Given the description of an element on the screen output the (x, y) to click on. 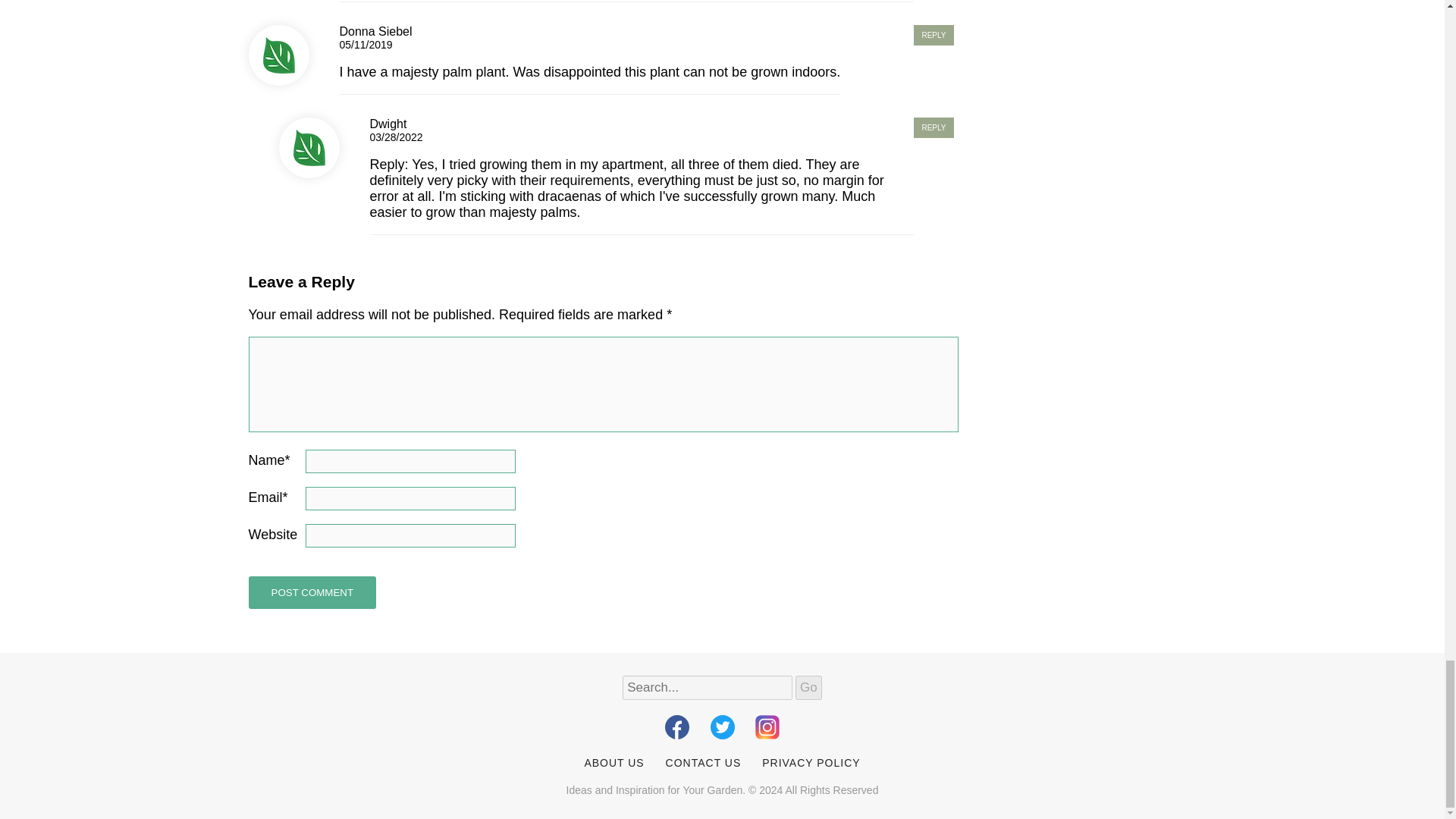
3 characters minimum (707, 687)
Go (808, 687)
POST COMMENT (312, 592)
REPLY (933, 35)
POST COMMENT (312, 592)
REPLY (933, 127)
